Given the description of an element on the screen output the (x, y) to click on. 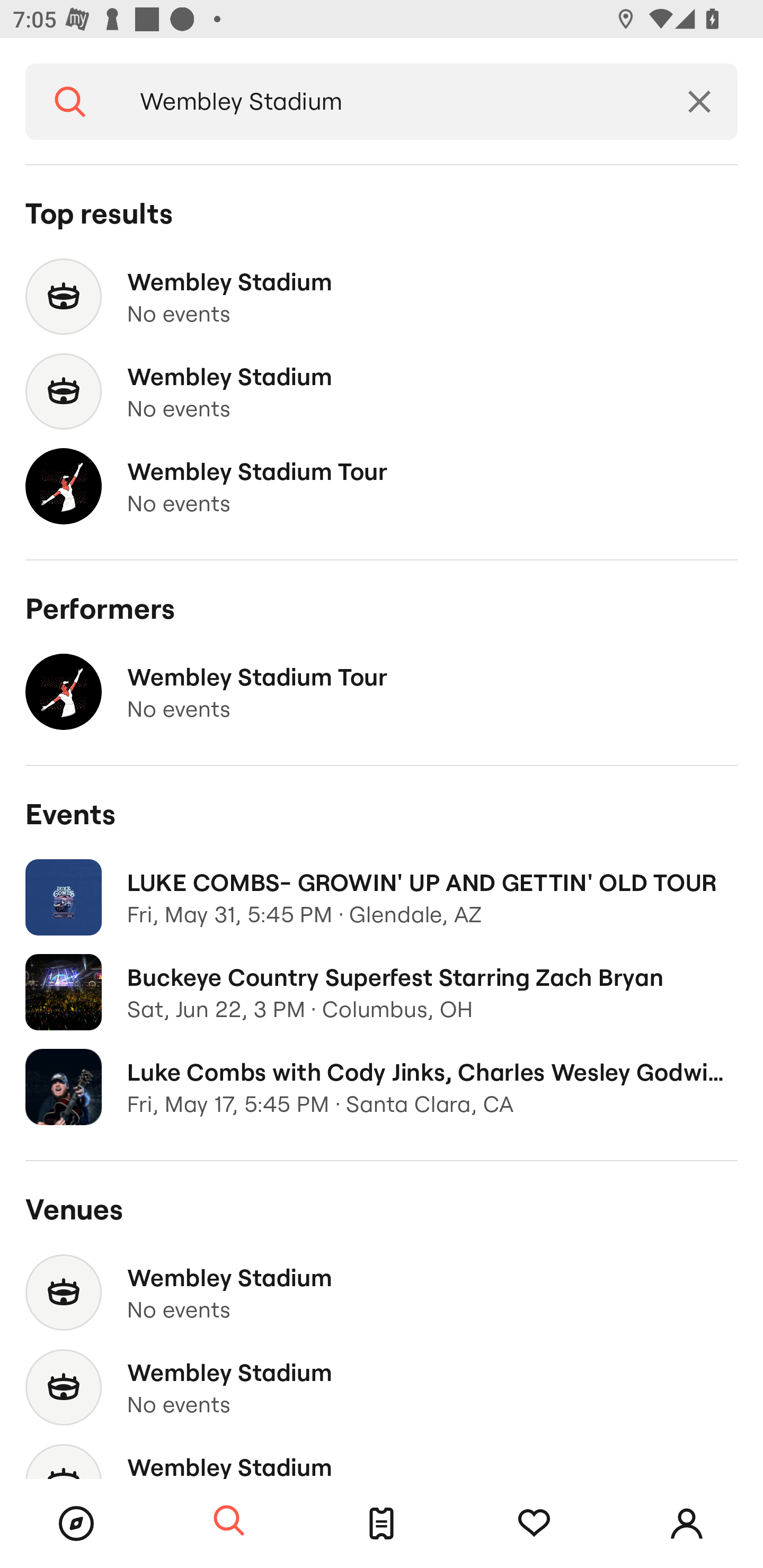
Search (69, 101)
Wembley Stadium (387, 101)
Clear (699, 101)
Wembley Stadium No events (381, 296)
Wembley Stadium No events (381, 391)
Wembley Stadium Tour No events (381, 486)
Wembley Stadium Tour No events (381, 692)
Wembley Stadium No events (381, 1292)
Wembley Stadium No events (381, 1387)
Browse (76, 1523)
Search (228, 1521)
Tickets (381, 1523)
Tracking (533, 1523)
Account (686, 1523)
